Given the description of an element on the screen output the (x, y) to click on. 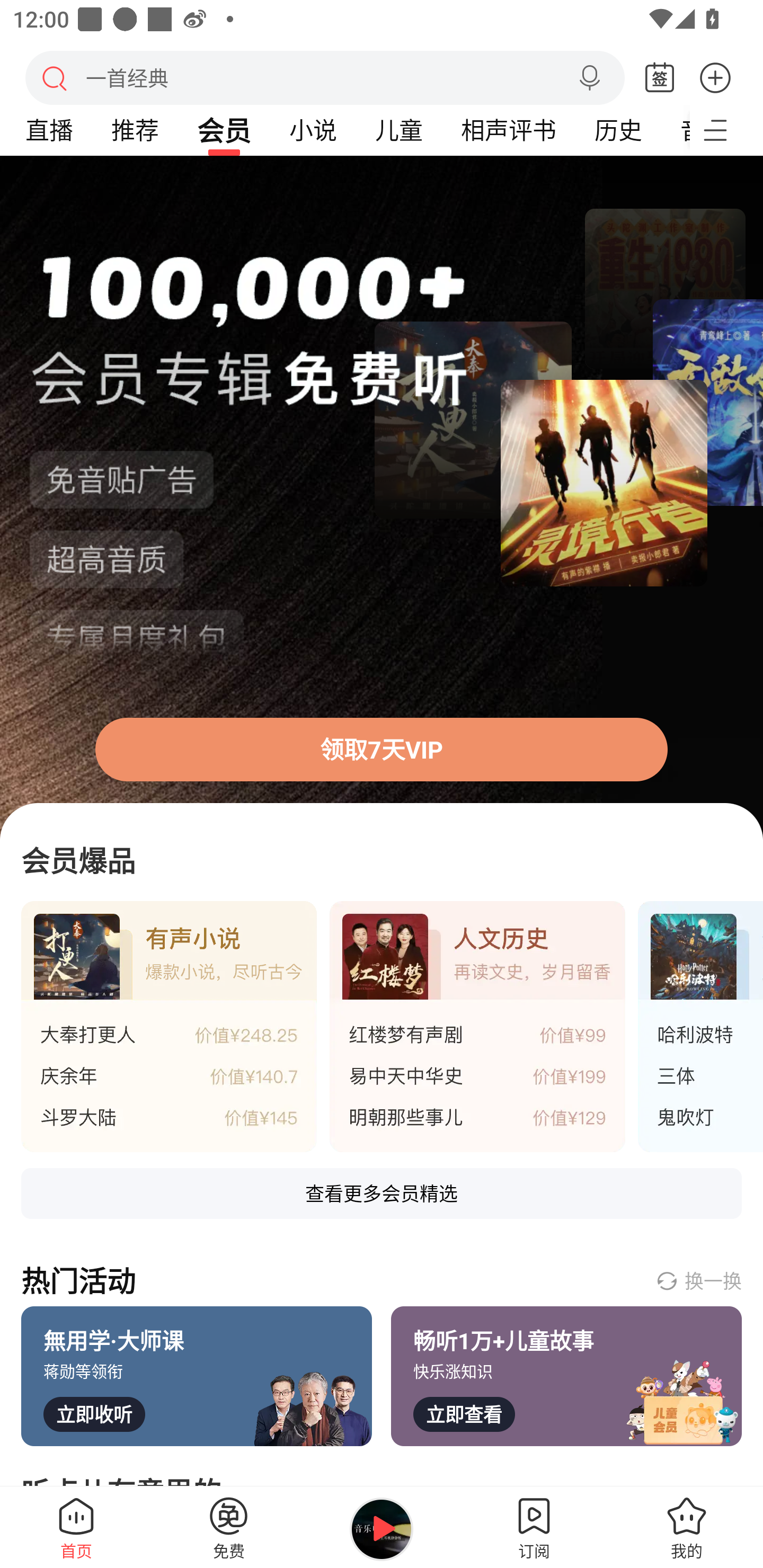
搜索 一首经典 语音搜索 (324, 77)
更多 (714, 77)
签到 (659, 78)
语音搜索 (589, 78)
直播 (49, 130)
推荐 (134, 130)
会员 (223, 130)
小说 (313, 130)
儿童 (398, 130)
相声评书 (508, 130)
历史 (618, 130)
更多频道 (726, 130)
领取7天VIP (381, 497)
领取7天VIP (381, 749)
查看更多会员精选 (381, 1193)
换一换 (698, 1279)
無用学·大师课 蒋勋等领衔 立即收听 (196, 1375)
畅听1万+儿童故事 快乐涨知识 立即查看 (565, 1375)
首页 (76, 1526)
免费 (228, 1526)
订阅 (533, 1526)
我的 (686, 1526)
继续播放 (381, 1529)
